Given the description of an element on the screen output the (x, y) to click on. 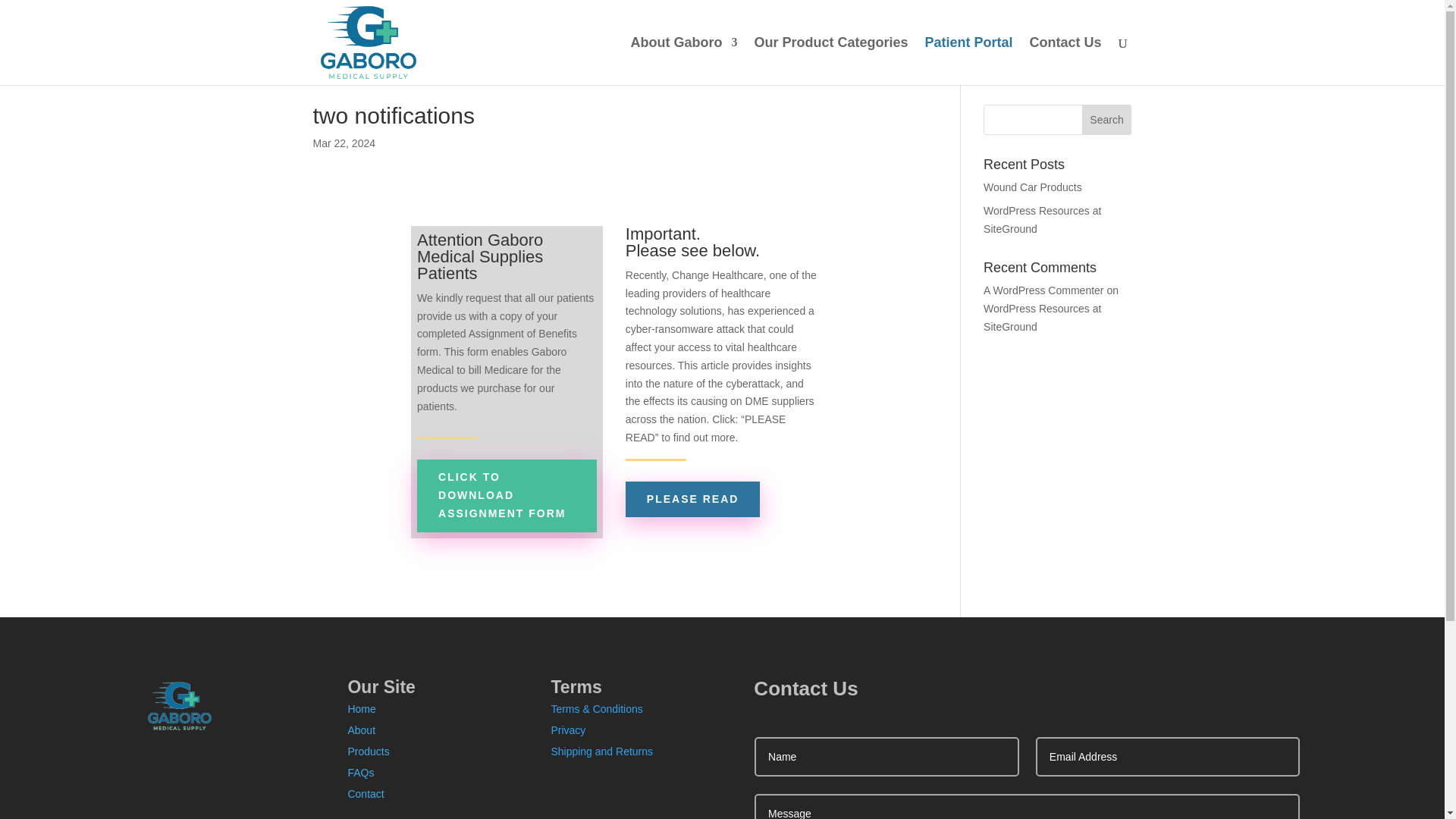
Wound Car Products (1032, 186)
Search (1106, 119)
Products (367, 751)
Contact (365, 793)
A WordPress Commenter (1043, 290)
About Gaboro (683, 60)
CLICK TO DOWNLOAD ASSIGNMENT FORM (506, 495)
FAQs (360, 772)
Our Product Categories (830, 60)
Patient Portal (967, 60)
About (361, 729)
PLEASE READ (693, 498)
Privacy (567, 729)
WordPress Resources at SiteGround (1042, 219)
Contact Us (1064, 60)
